Given the description of an element on the screen output the (x, y) to click on. 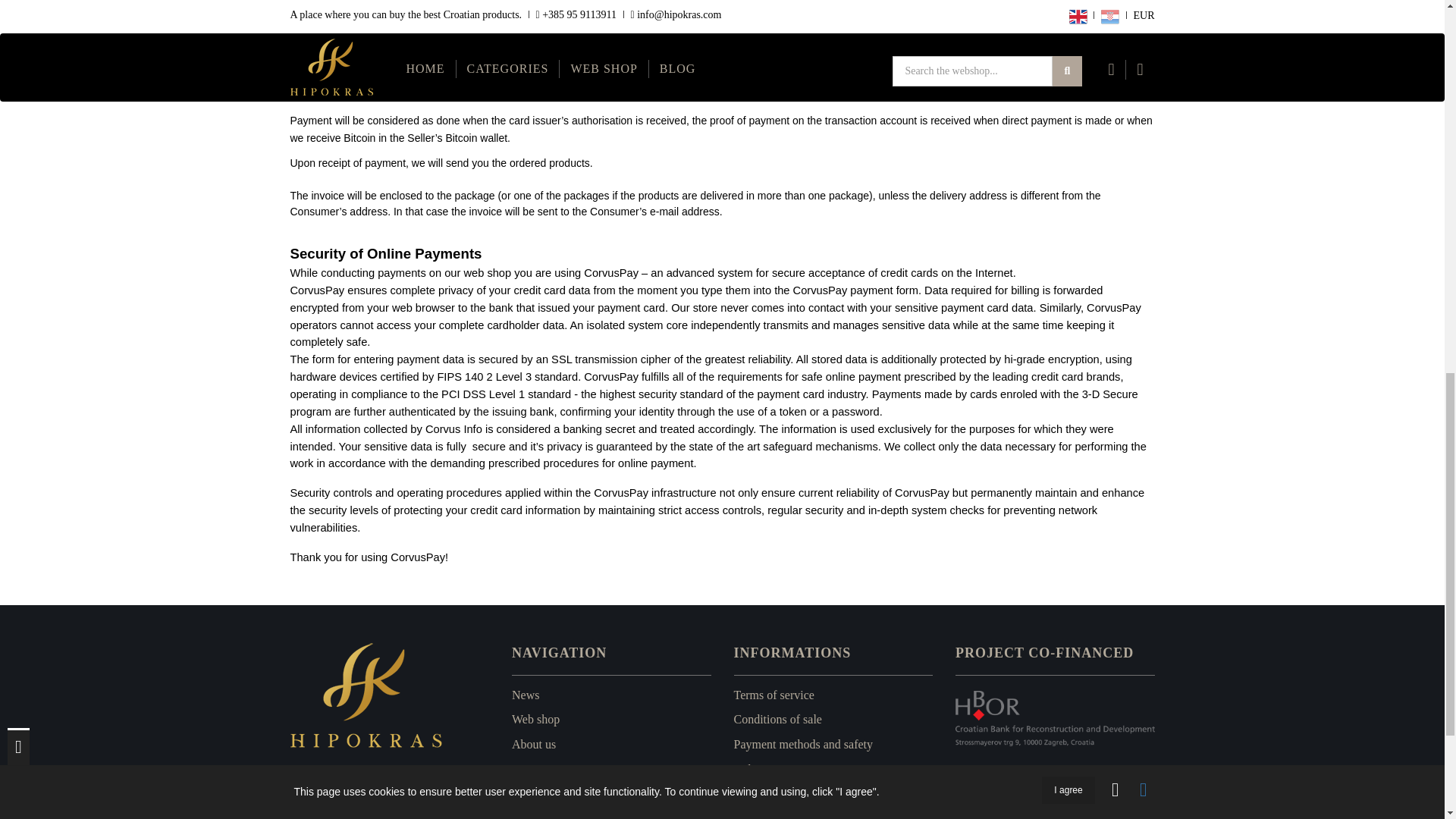
Contact (531, 768)
About us (534, 744)
Web shop (535, 718)
News (525, 694)
Terms of service (773, 694)
